Given the description of an element on the screen output the (x, y) to click on. 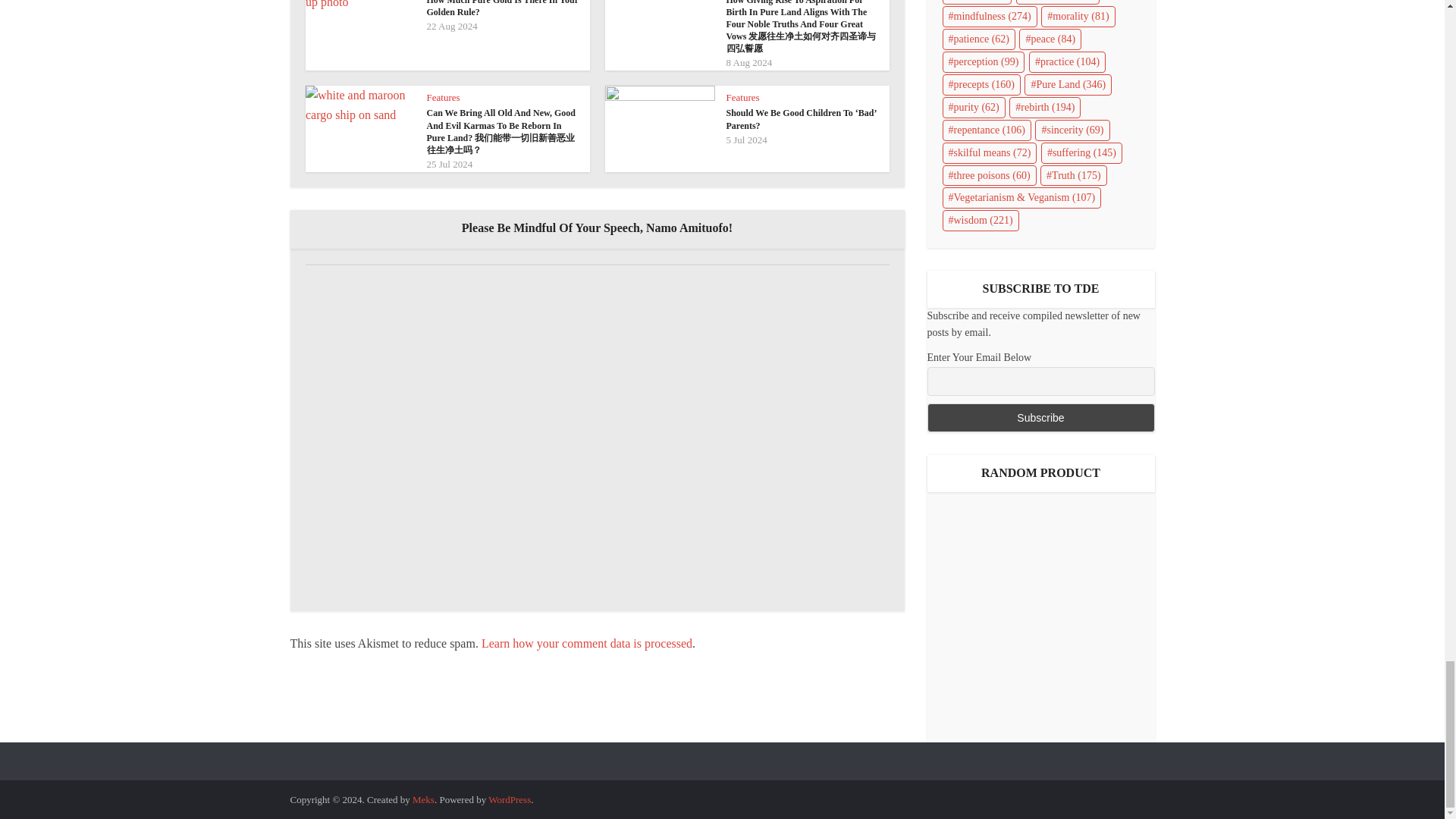
How Much Pure Gold Is There In Your Golden Rule? (502, 8)
Subscribe (1040, 417)
